Given the description of an element on the screen output the (x, y) to click on. 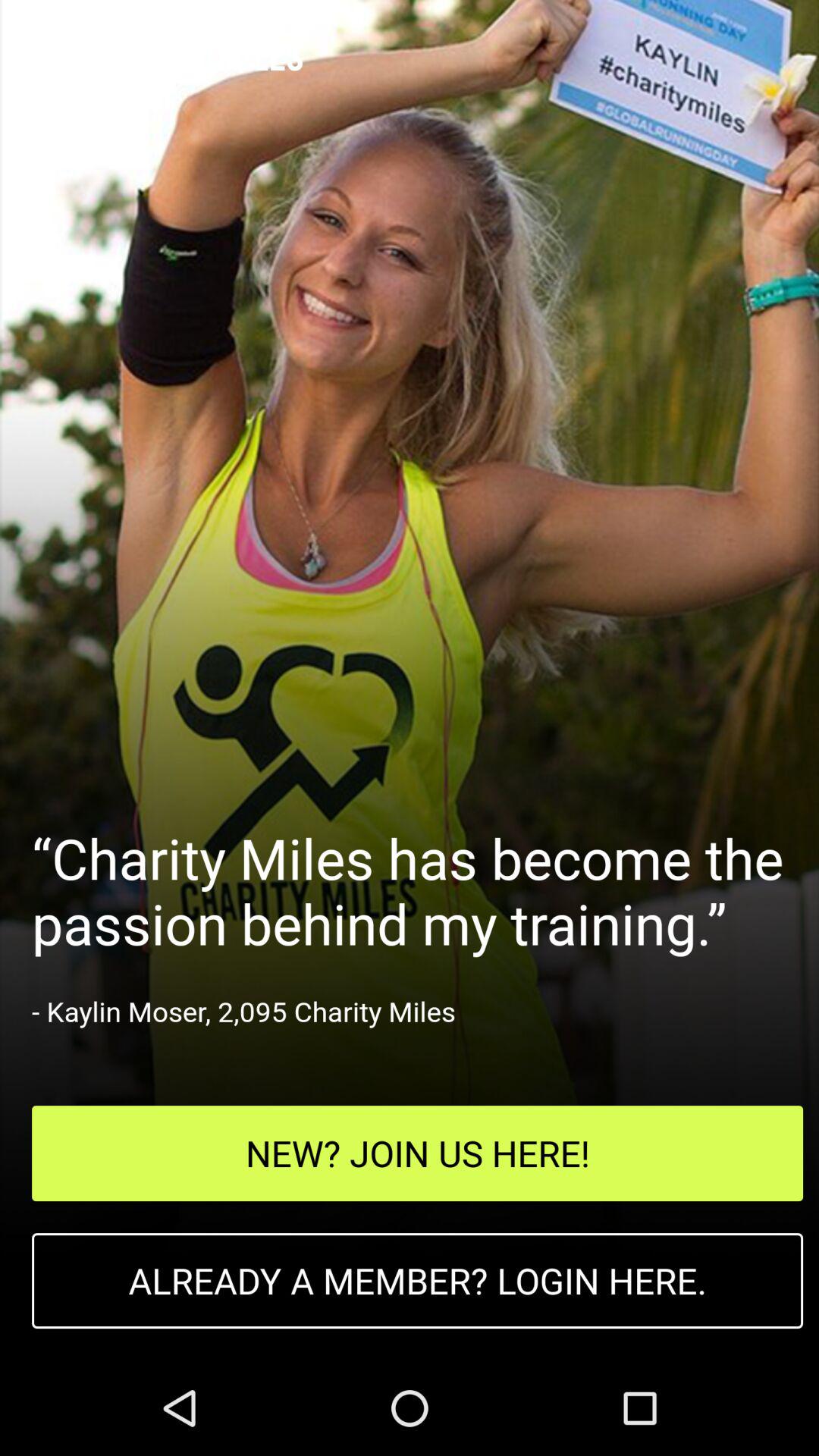
choose already a member (417, 1280)
